Given the description of an element on the screen output the (x, y) to click on. 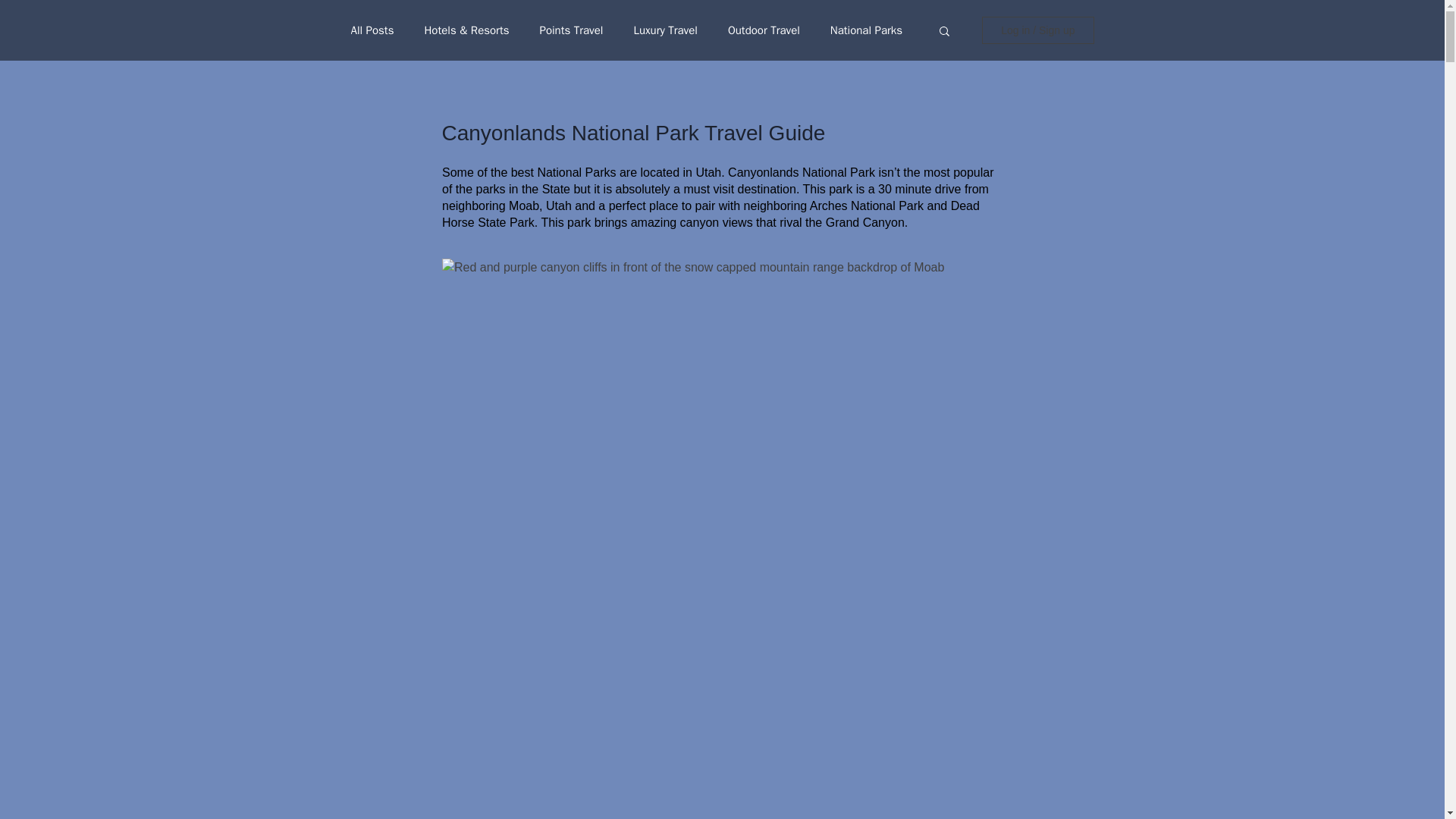
Points Travel (570, 29)
National Parks (865, 29)
All Posts (371, 29)
Luxury Travel (665, 29)
Outdoor Travel (763, 29)
